Given the description of an element on the screen output the (x, y) to click on. 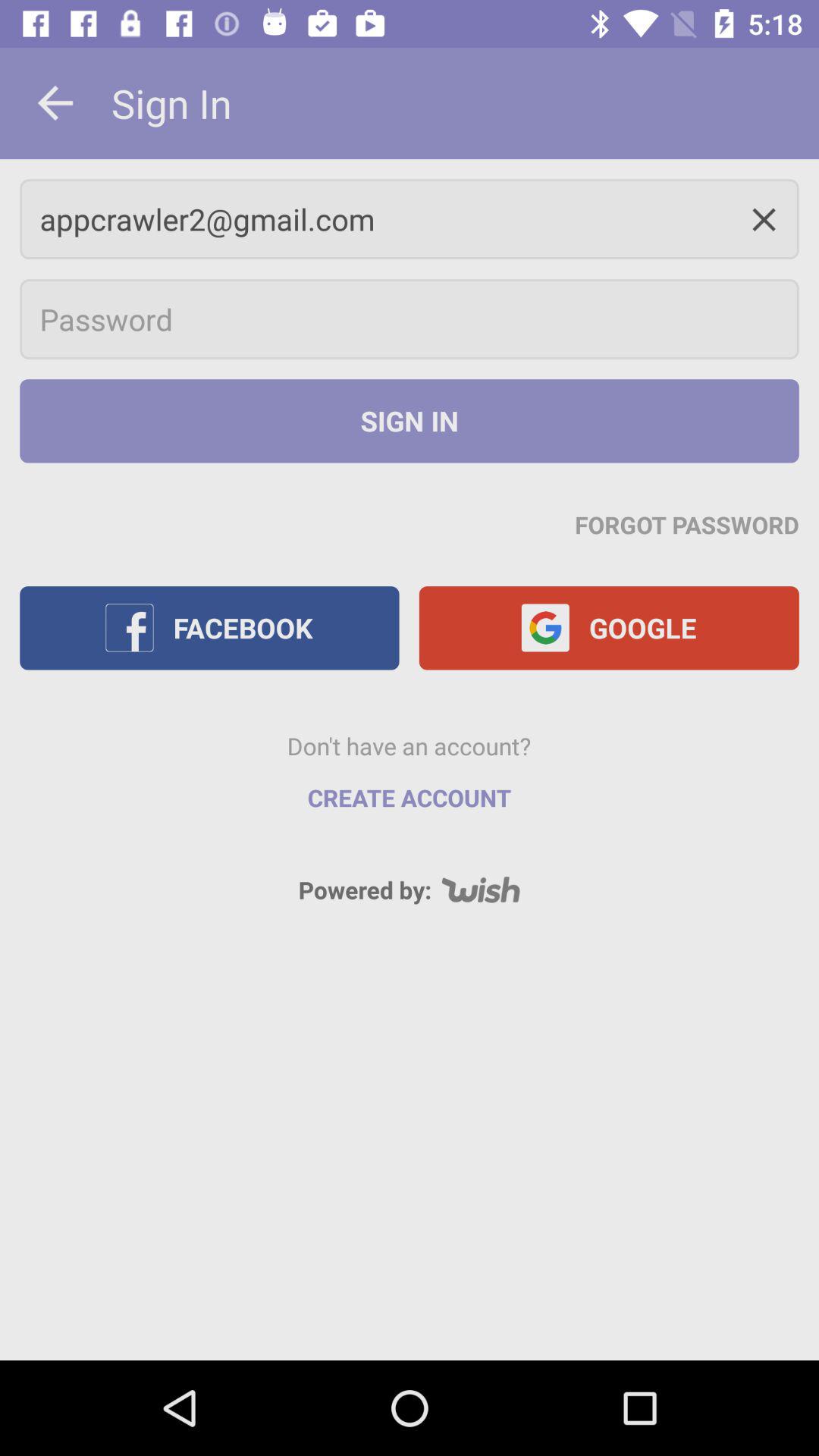
enter password (409, 319)
